Given the description of an element on the screen output the (x, y) to click on. 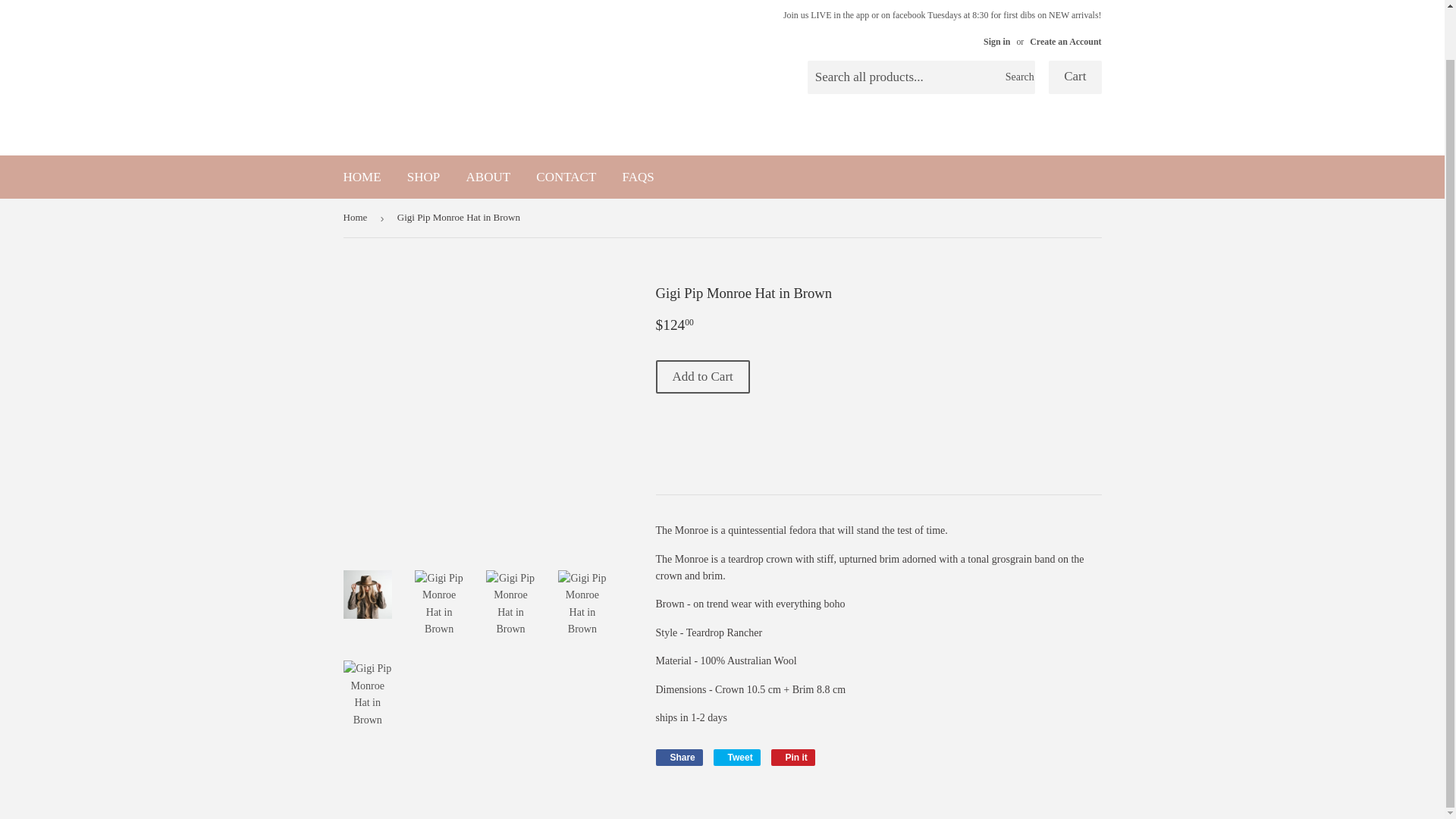
Cart (1074, 77)
Tweet on Twitter (736, 757)
Pin on Pinterest (793, 757)
Sign in (997, 41)
Create an Account (1064, 41)
HOME (362, 177)
Search (1018, 78)
Share on Facebook (678, 757)
SHOP (423, 177)
